Given the description of an element on the screen output the (x, y) to click on. 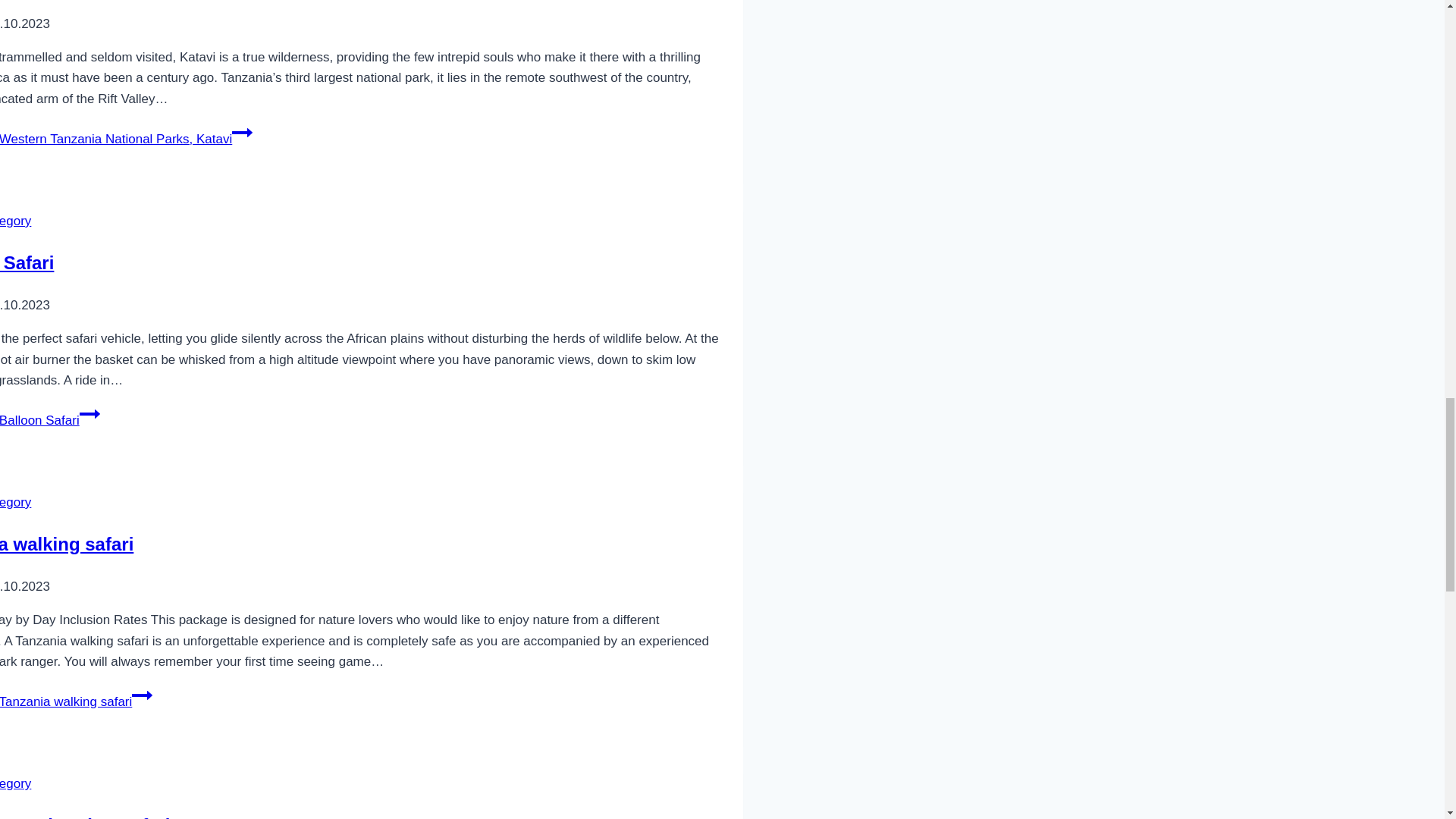
Without Category (15, 783)
Read More Tanzania walking safariContinue (76, 701)
Continue (241, 132)
Tanzania walking safari (66, 543)
Without Category (15, 502)
Read More Western Tanzania National Parks, KataviContinue (125, 138)
Balloon Safari (26, 262)
Read More Balloon SafariContinue (50, 420)
Continue (142, 694)
Wildebeest Migration Safari (85, 816)
Without Category (15, 220)
Continue (90, 414)
